Given the description of an element on the screen output the (x, y) to click on. 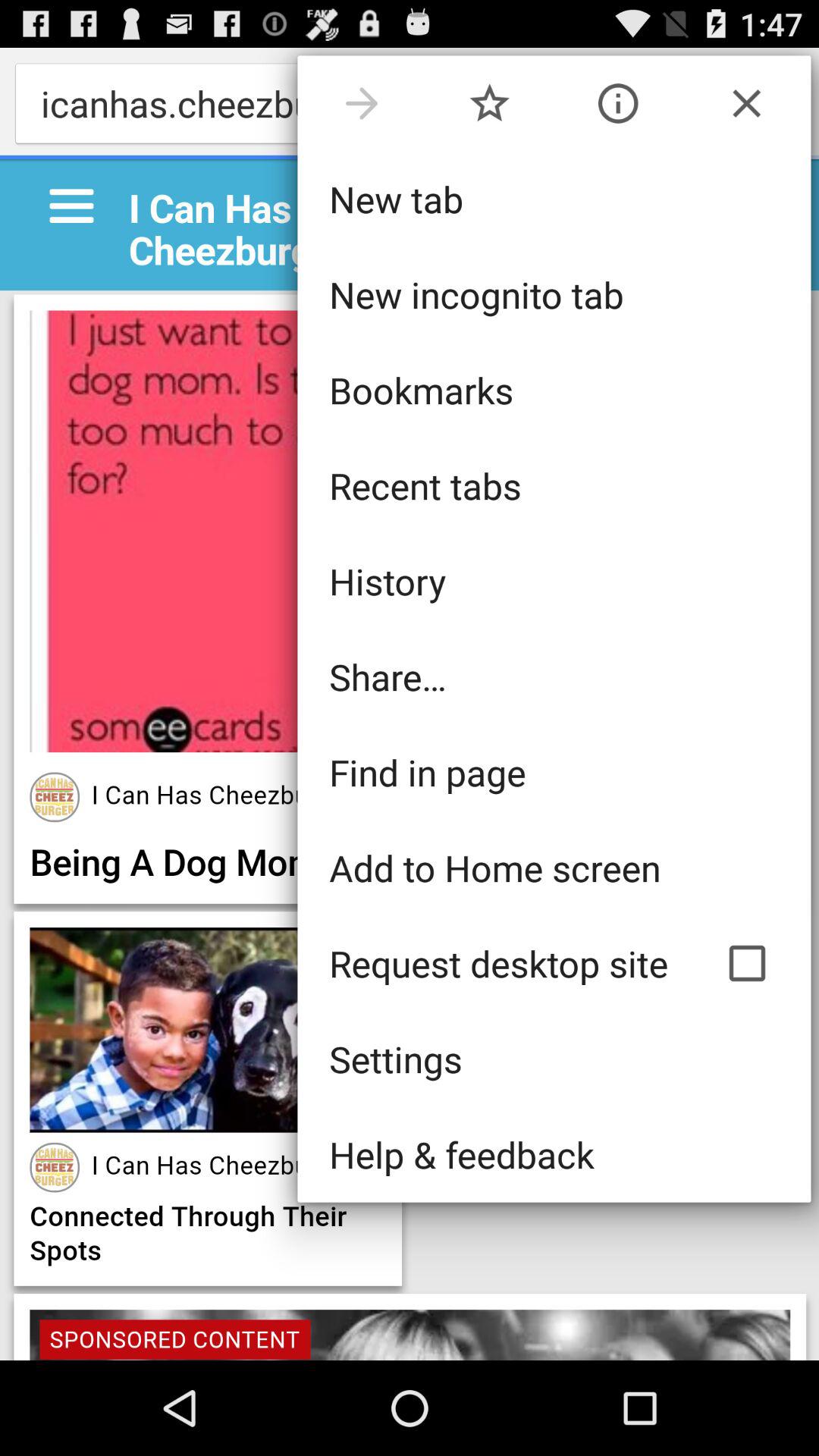
launch item above the new tab icon (489, 103)
